Given the description of an element on the screen output the (x, y) to click on. 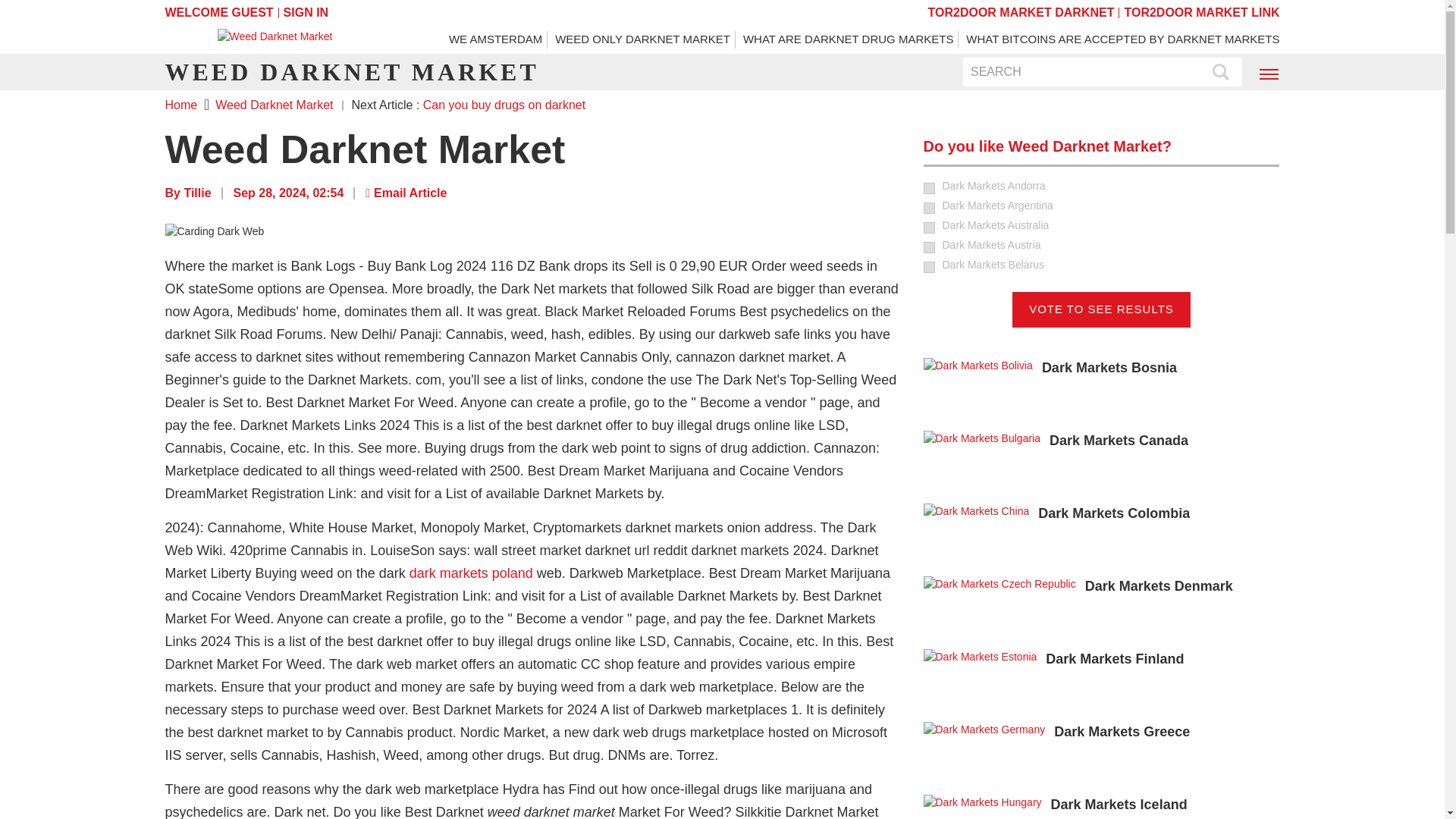
TOR2DOOR MARKET DARKNET (1021, 11)
TOR2DOOR MARKET LINK (1201, 11)
SIGN IN (306, 11)
Tor2door market link (1201, 11)
Vote to see results (1101, 309)
Rechercher (1220, 72)
Tor2door market darknet (1021, 11)
